Given the description of an element on the screen output the (x, y) to click on. 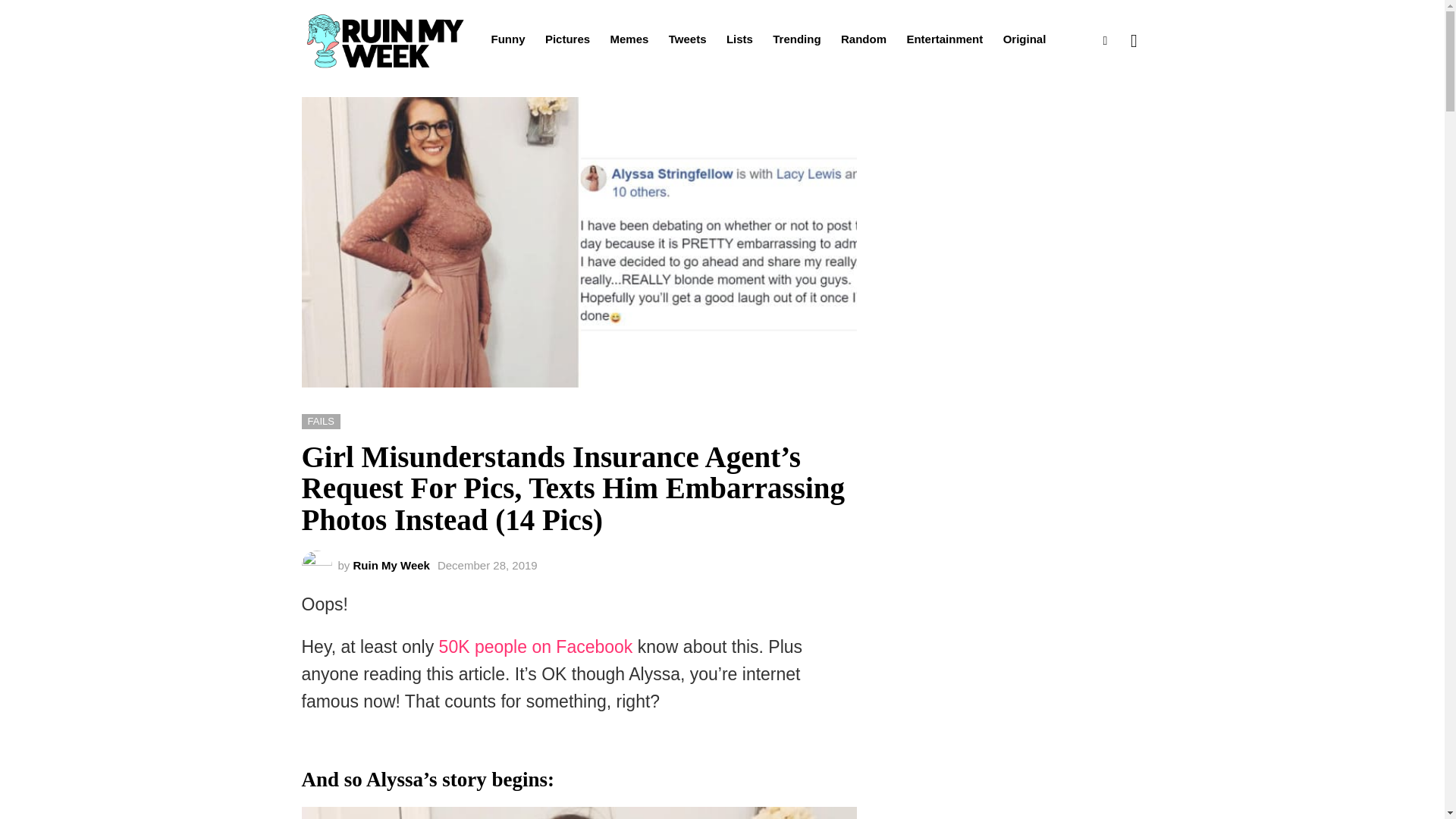
Lists (739, 38)
Memes (629, 38)
FAILS (320, 421)
Funny (507, 38)
Tweets (687, 38)
Menu (1105, 40)
Trending (796, 38)
Random (862, 38)
Original (1024, 38)
Ruin My Week (391, 564)
